Given the description of an element on the screen output the (x, y) to click on. 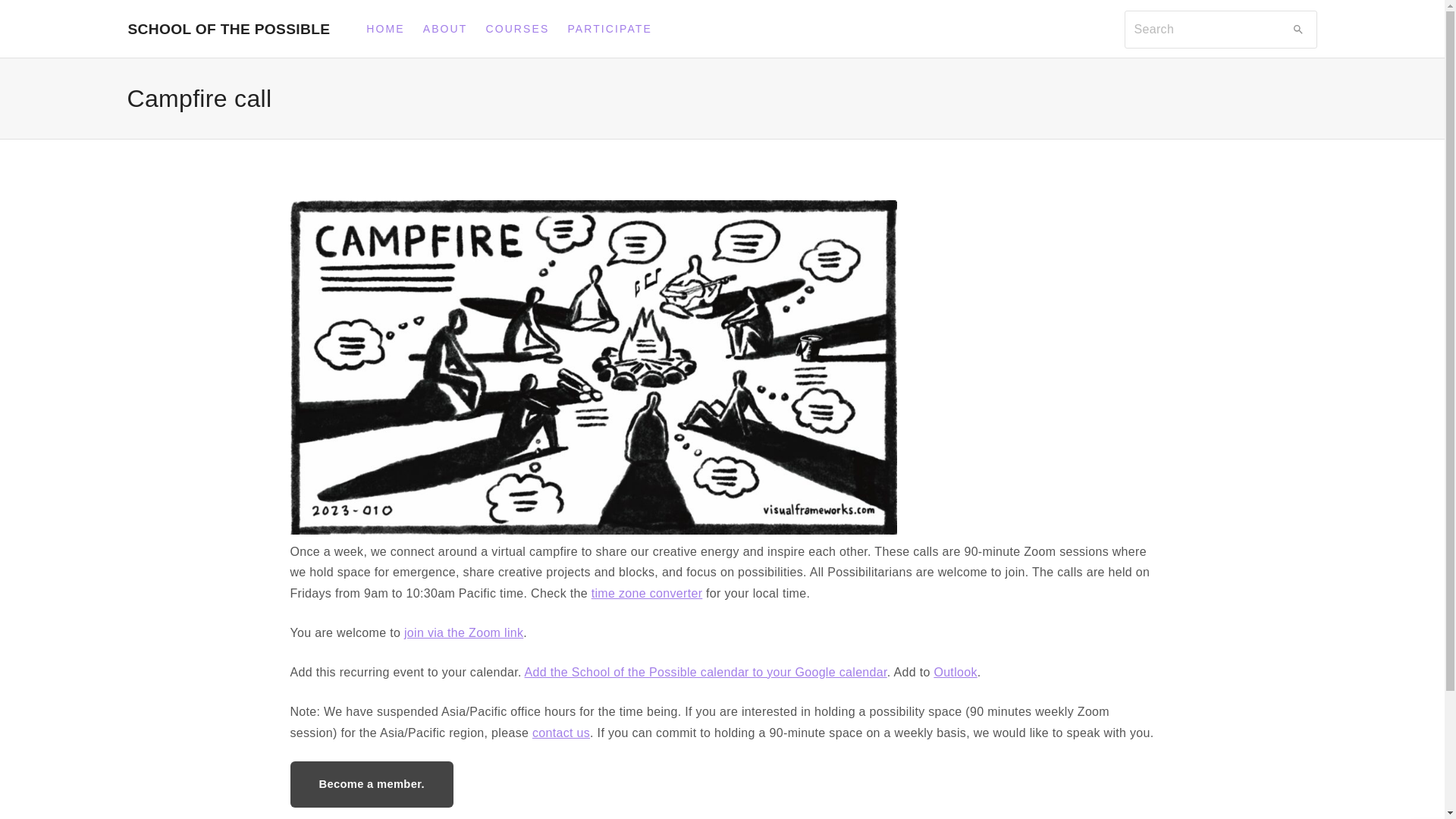
SCHOOL OF THE POSSIBLE (228, 29)
PARTICIPATE (609, 28)
ABOUT (445, 28)
join via the Zoom link (463, 632)
Outlook (954, 671)
HOME (385, 28)
time zone converter (647, 593)
Search (1297, 29)
contact us (560, 732)
COURSES (516, 28)
